Given the description of an element on the screen output the (x, y) to click on. 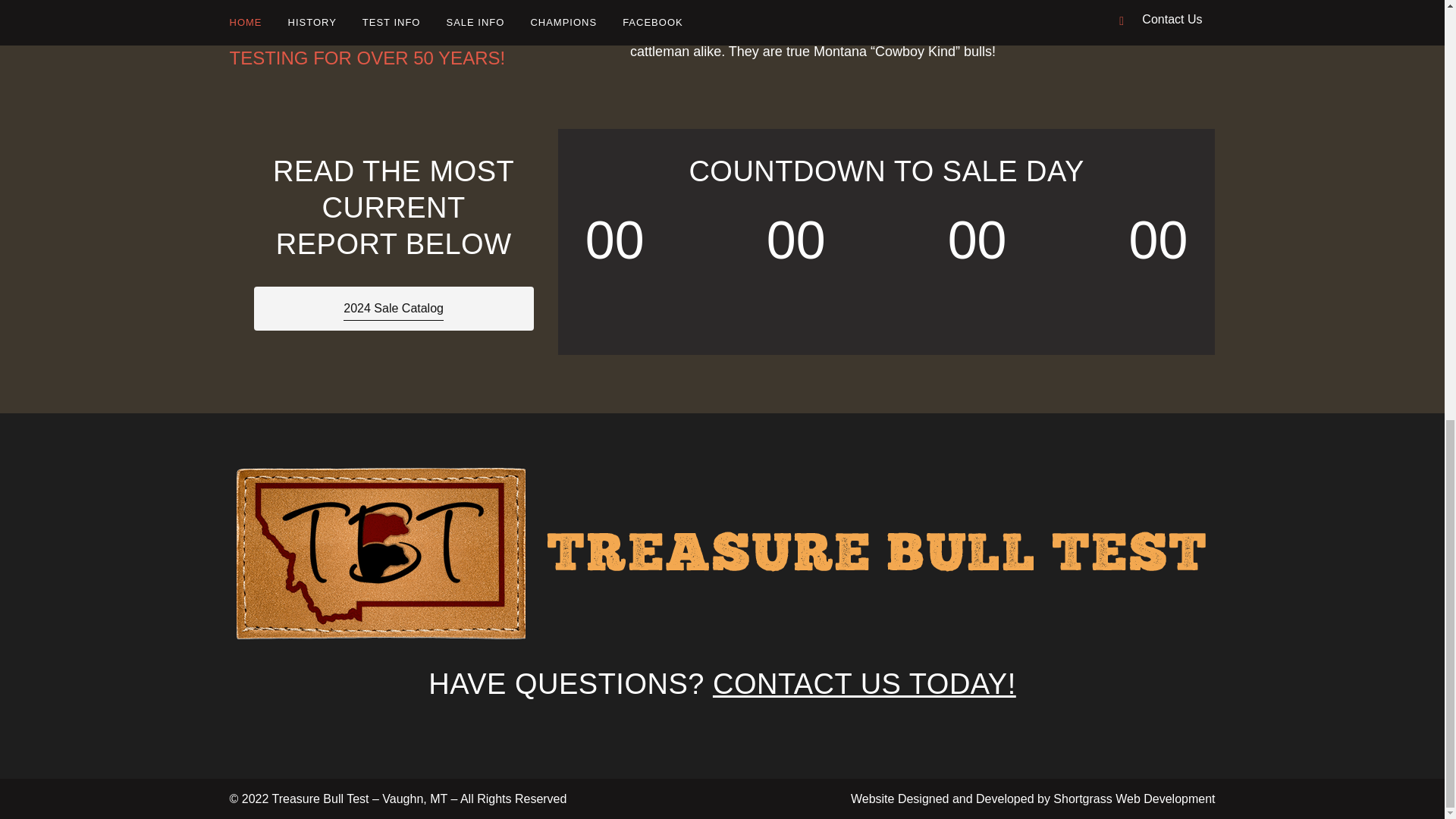
Shortgrass Web Development (1133, 798)
CONTACT US TODAY! (864, 684)
2024 Sale Catalog (392, 308)
